Given the description of an element on the screen output the (x, y) to click on. 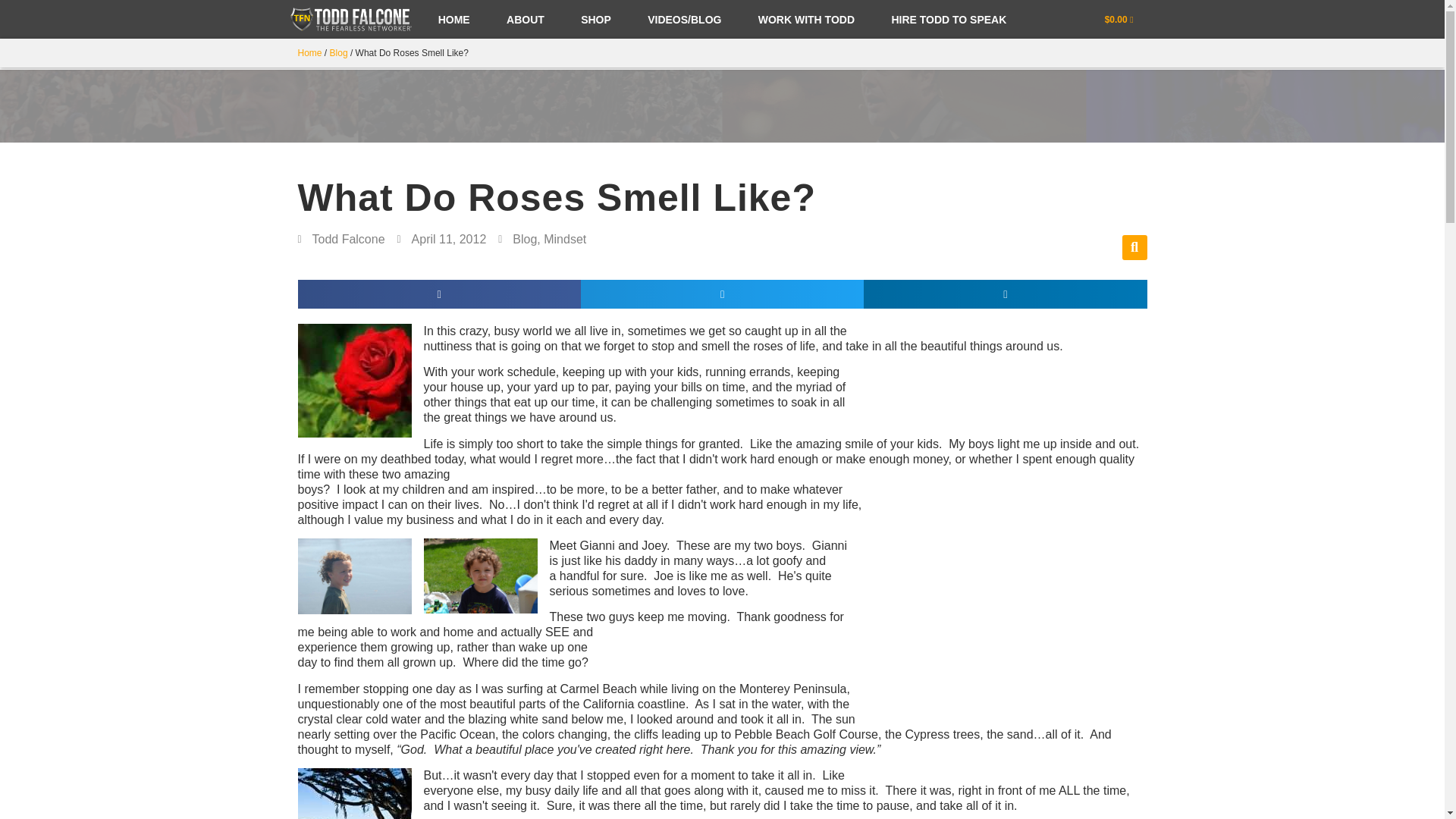
carmelbeach (353, 793)
GianniBeach (353, 576)
HIRE TODD TO SPEAK (948, 19)
SHOP (595, 19)
JoeyBackyard (480, 575)
HOME (453, 19)
ABOUT (524, 19)
Blog (338, 52)
Home (309, 52)
rose (353, 380)
WORK WITH TODD (806, 19)
